Given the description of an element on the screen output the (x, y) to click on. 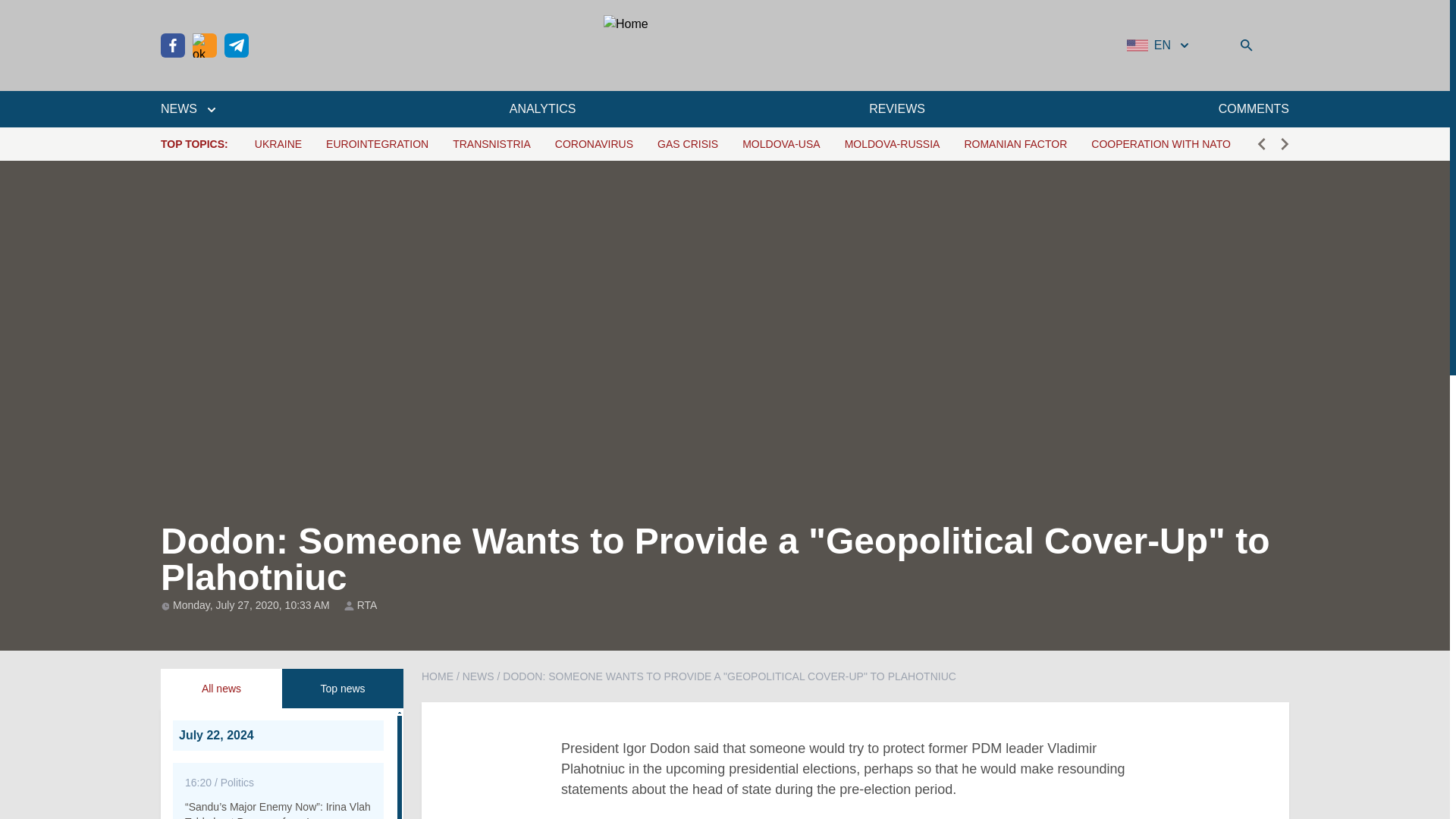
REVIEWS (896, 108)
GAS CRISIS (687, 143)
All news (221, 688)
COOPERATION WITH NATO (1160, 143)
NEWS (187, 108)
RTA (366, 604)
ROMANIAN FACTOR (1015, 143)
UKRAINE (277, 143)
COMMENTS (1253, 108)
EN (1159, 45)
ANALYTICS (542, 108)
MOLDOVA-USA (780, 143)
EUROINTEGRATION (377, 143)
MOLDOVA-RUSSIA (892, 143)
